Given the description of an element on the screen output the (x, y) to click on. 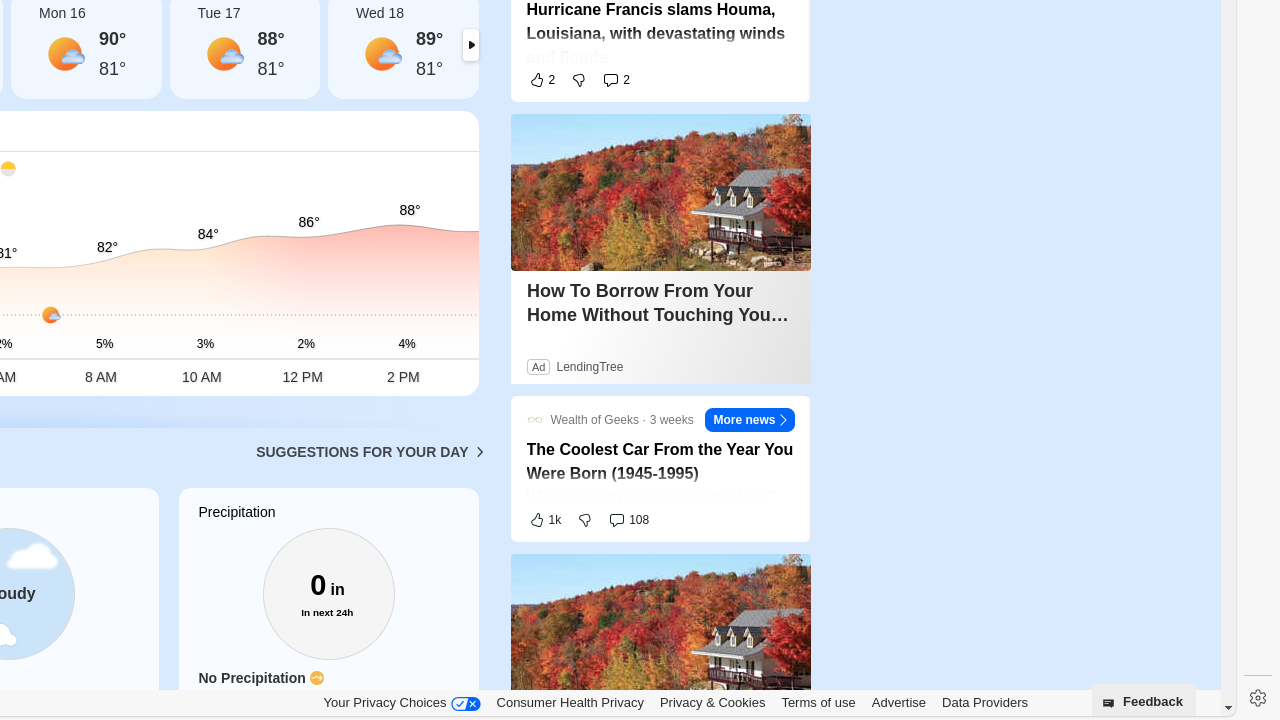
How To Borrow From Your Home Without Touching Your Mortgage Element type: link (660, 303)
Switch right Element type: push-button (470, 45)
Feedback Element type: push-button (1143, 700)
